Given the description of an element on the screen output the (x, y) to click on. 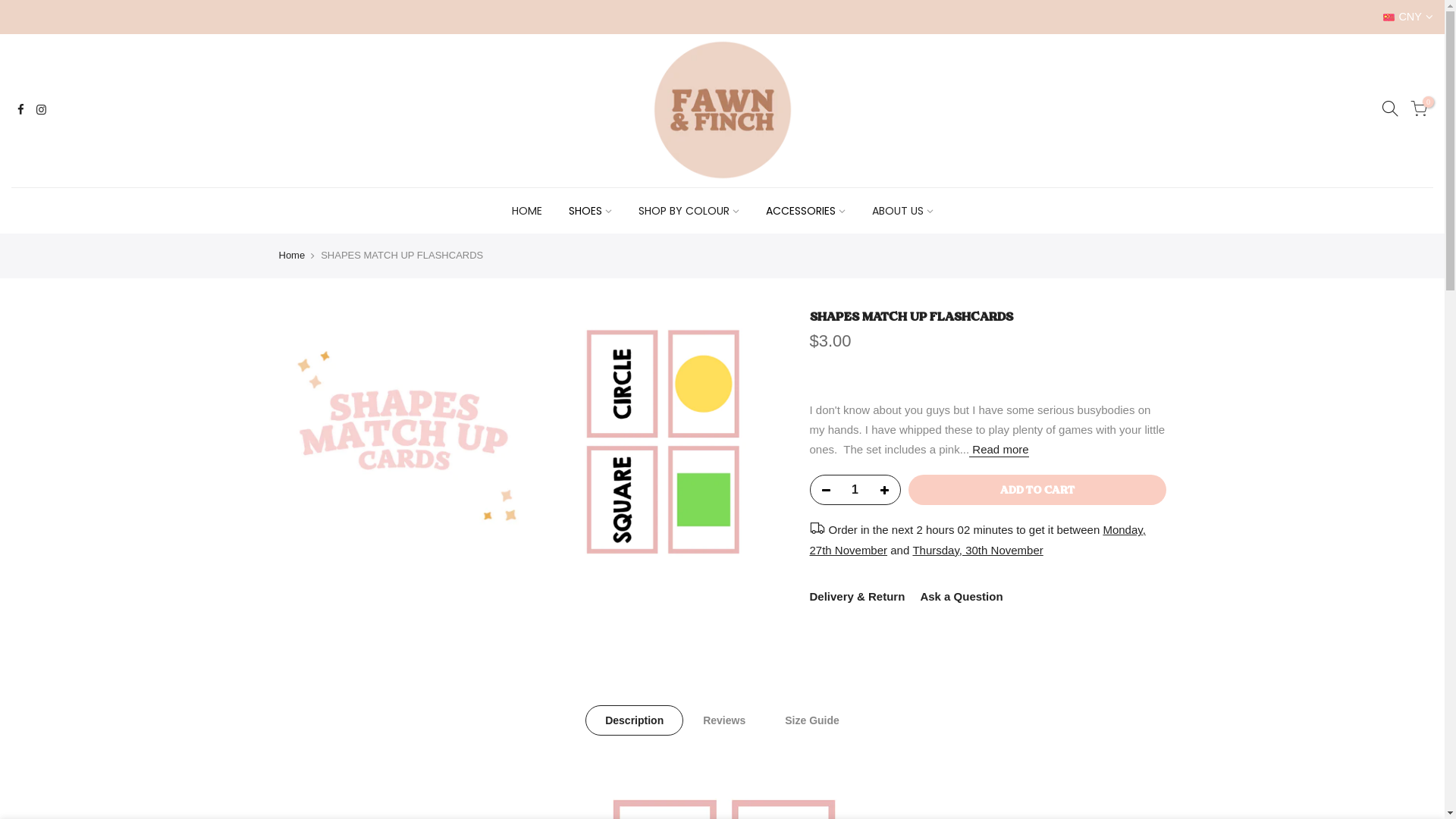
0 Element type: text (1418, 111)
Home Element type: text (292, 255)
SHOP BY COLOUR Element type: text (688, 210)
Ask a Question Element type: text (960, 595)
ADD TO CART Element type: text (1037, 489)
SHOES Element type: text (589, 210)
ABOUT US Element type: text (902, 210)
Description Element type: text (634, 720)
Delivery & Return Element type: text (857, 595)
ACCESSORIES Element type: text (805, 210)
Size Guide Element type: text (812, 720)
HOME Element type: text (526, 210)
Reviews Element type: text (724, 720)
Read more Element type: text (998, 449)
